Given the description of an element on the screen output the (x, y) to click on. 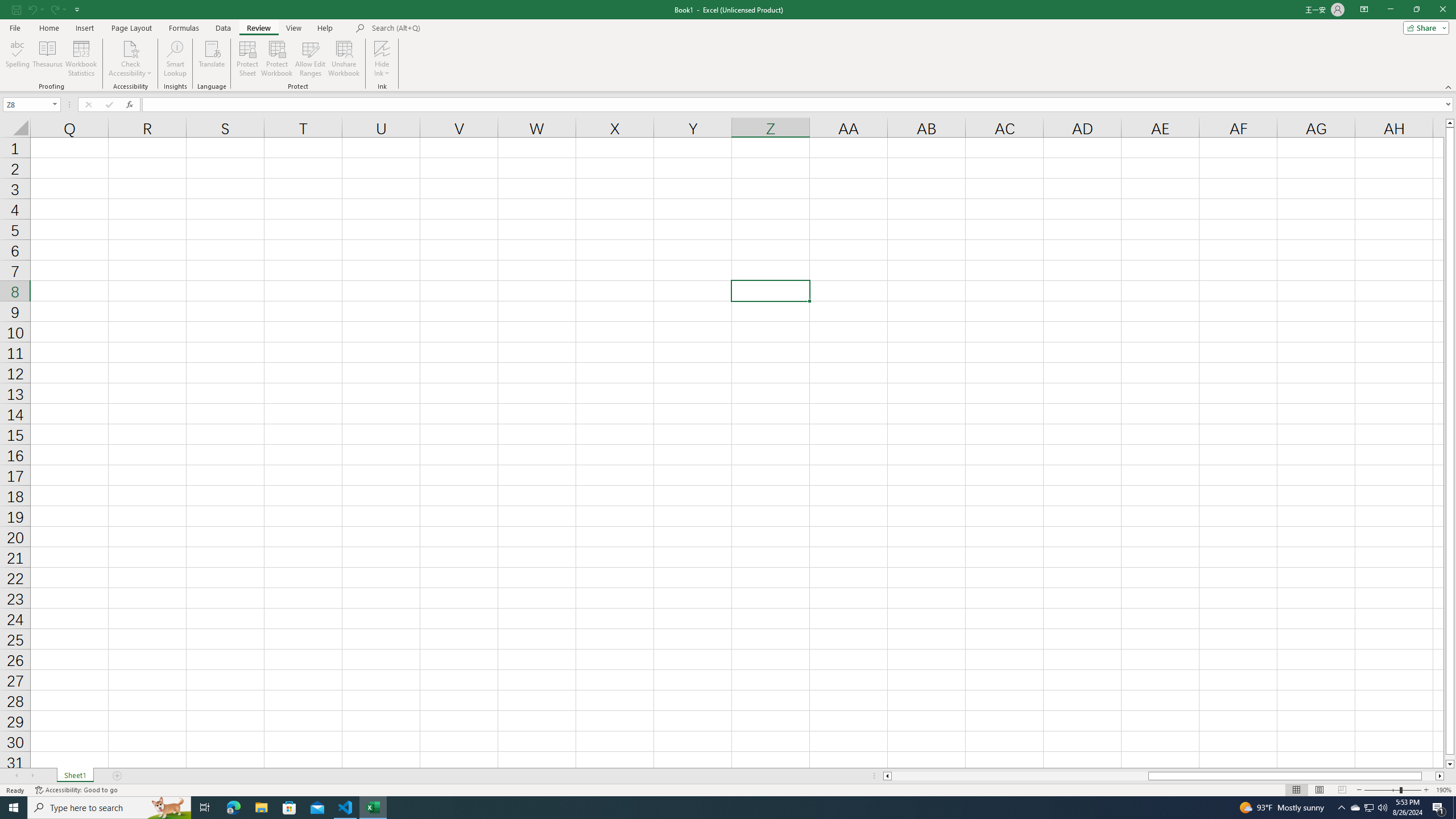
Data (223, 28)
Name Box (30, 104)
Share (1423, 27)
Line up (1449, 122)
Review (258, 28)
Column right (1440, 775)
Microsoft search (450, 28)
Redo (53, 9)
Save (16, 9)
Undo (35, 9)
Line down (1449, 764)
Quick Access Toolbar (46, 9)
Thesaurus... (47, 58)
